Given the description of an element on the screen output the (x, y) to click on. 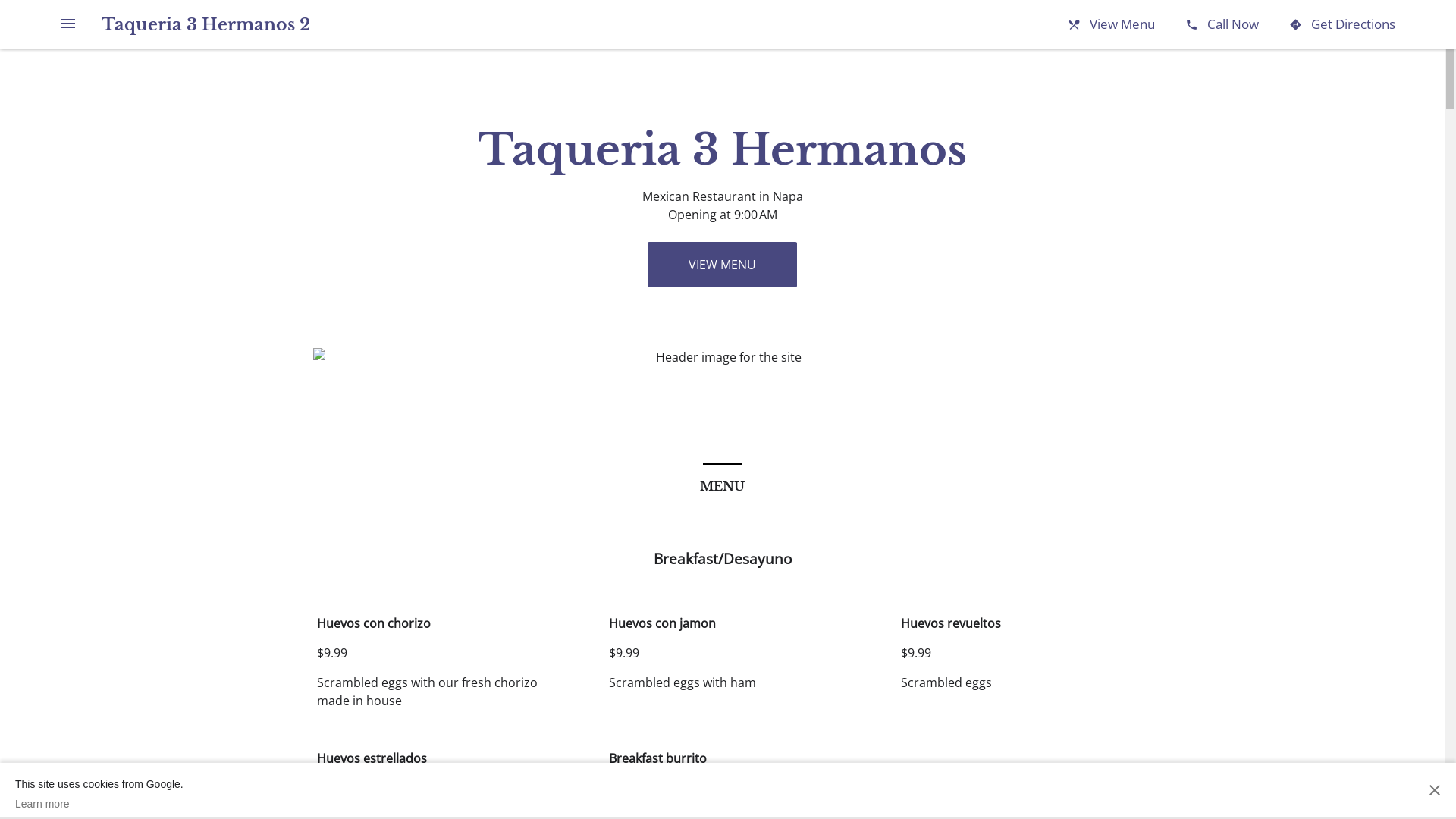
Taqueria 3 Hermanos 2 Element type: text (205, 23)
VIEW MENU Element type: text (722, 264)
Learn more Element type: text (99, 803)
